Given the description of an element on the screen output the (x, y) to click on. 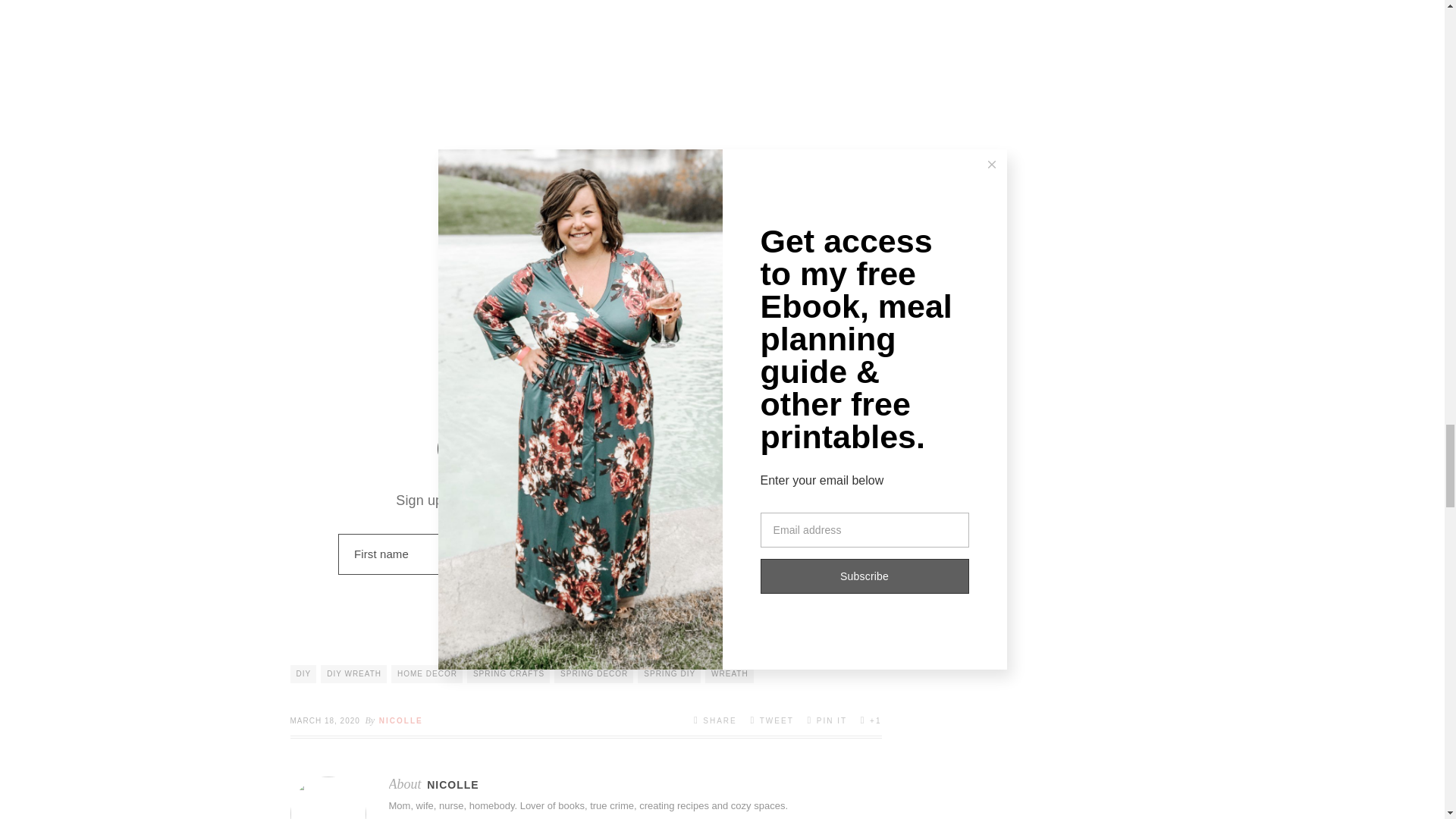
Posts by Nicolle (452, 784)
Posts by Nicolle (400, 720)
